Given the description of an element on the screen output the (x, y) to click on. 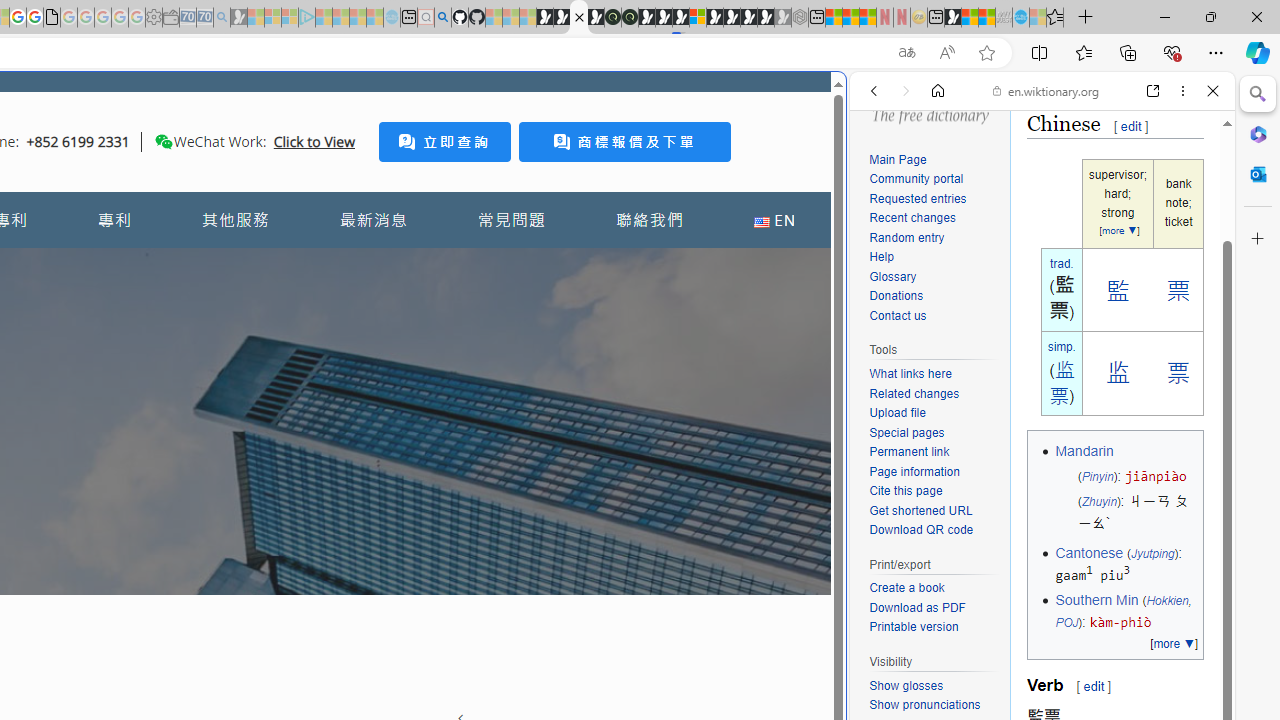
Wiktionary (1034, 669)
Donations (896, 295)
Related changes (934, 393)
Download QR code (921, 529)
Random entry (906, 236)
Page information (934, 472)
edit (1093, 686)
Mandarin (1083, 451)
Play Zoo Boom in your browser | Games from Microsoft Start (561, 17)
